Given the description of an element on the screen output the (x, y) to click on. 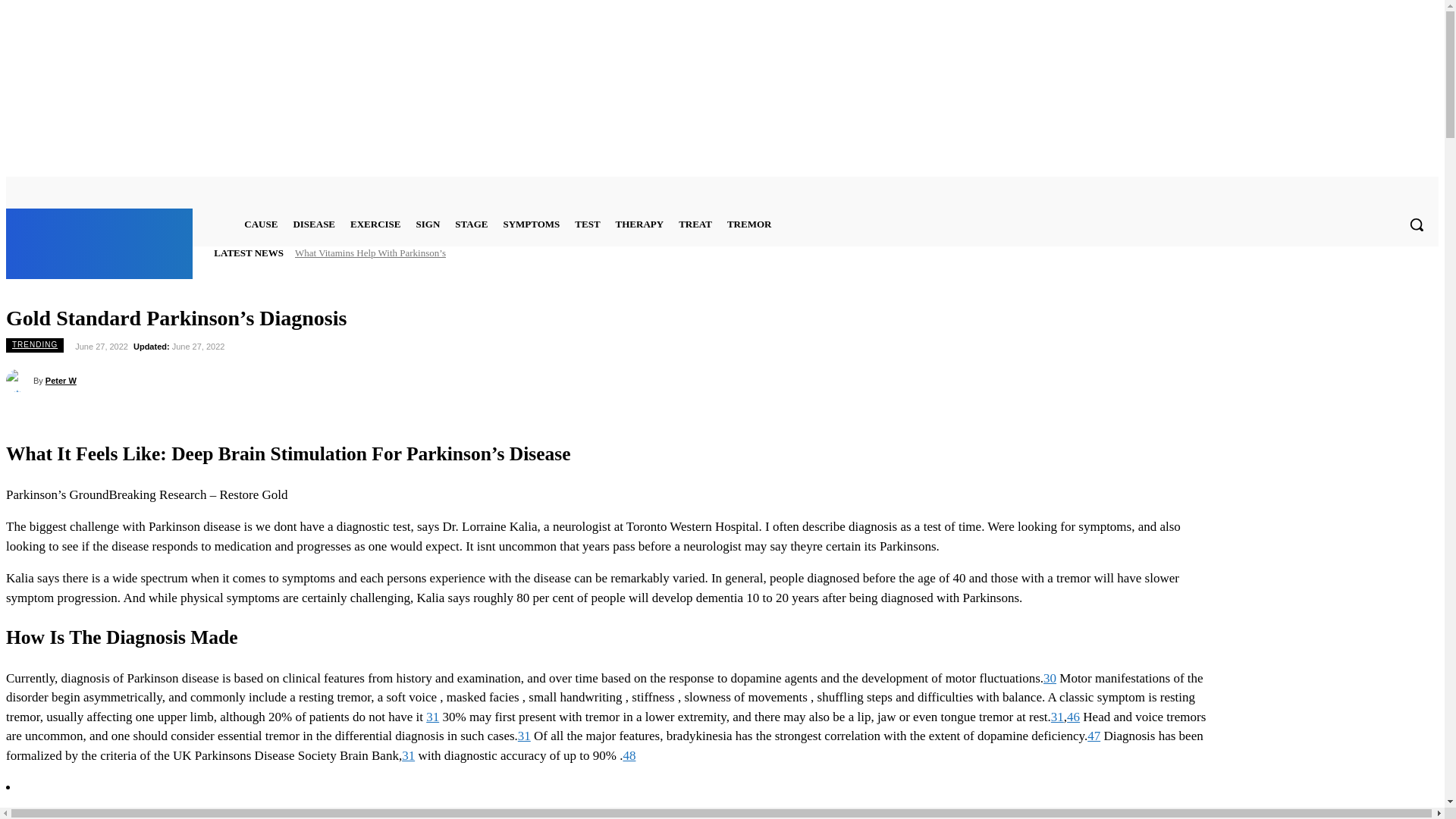
Instagram (1389, 189)
Facebook (1370, 189)
